Given the description of an element on the screen output the (x, y) to click on. 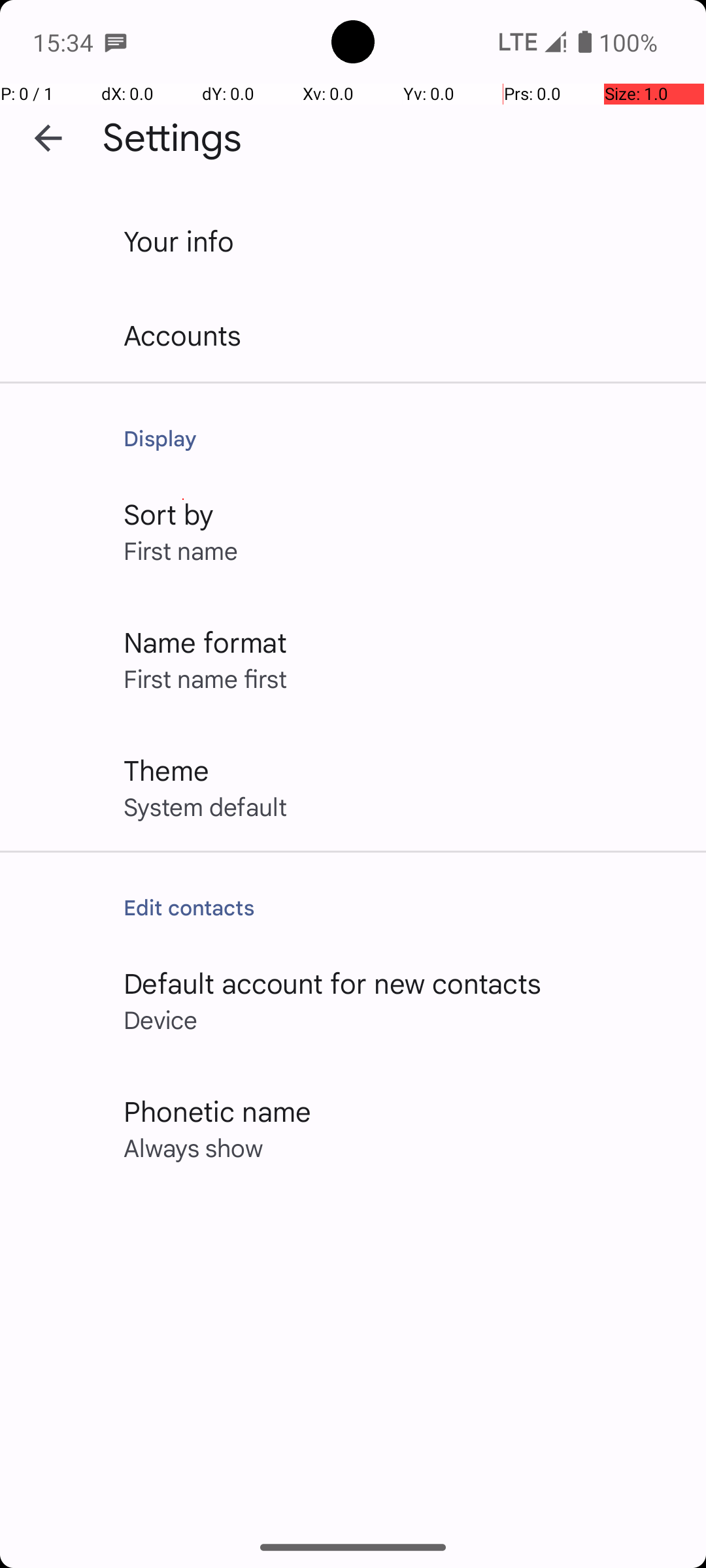
Your info Element type: android.widget.TextView (178, 240)
Accounts Element type: android.widget.TextView (182, 334)
Display Element type: android.widget.TextView (400, 437)
Name format Element type: android.widget.TextView (205, 641)
First name first Element type: android.widget.TextView (204, 678)
System default Element type: android.widget.TextView (204, 806)
Edit contacts Element type: android.widget.TextView (400, 906)
Default account for new contacts Element type: android.widget.TextView (332, 982)
Device Element type: android.widget.TextView (160, 1019)
Phonetic name Element type: android.widget.TextView (217, 1110)
Always show Element type: android.widget.TextView (192, 1147)
